Given the description of an element on the screen output the (x, y) to click on. 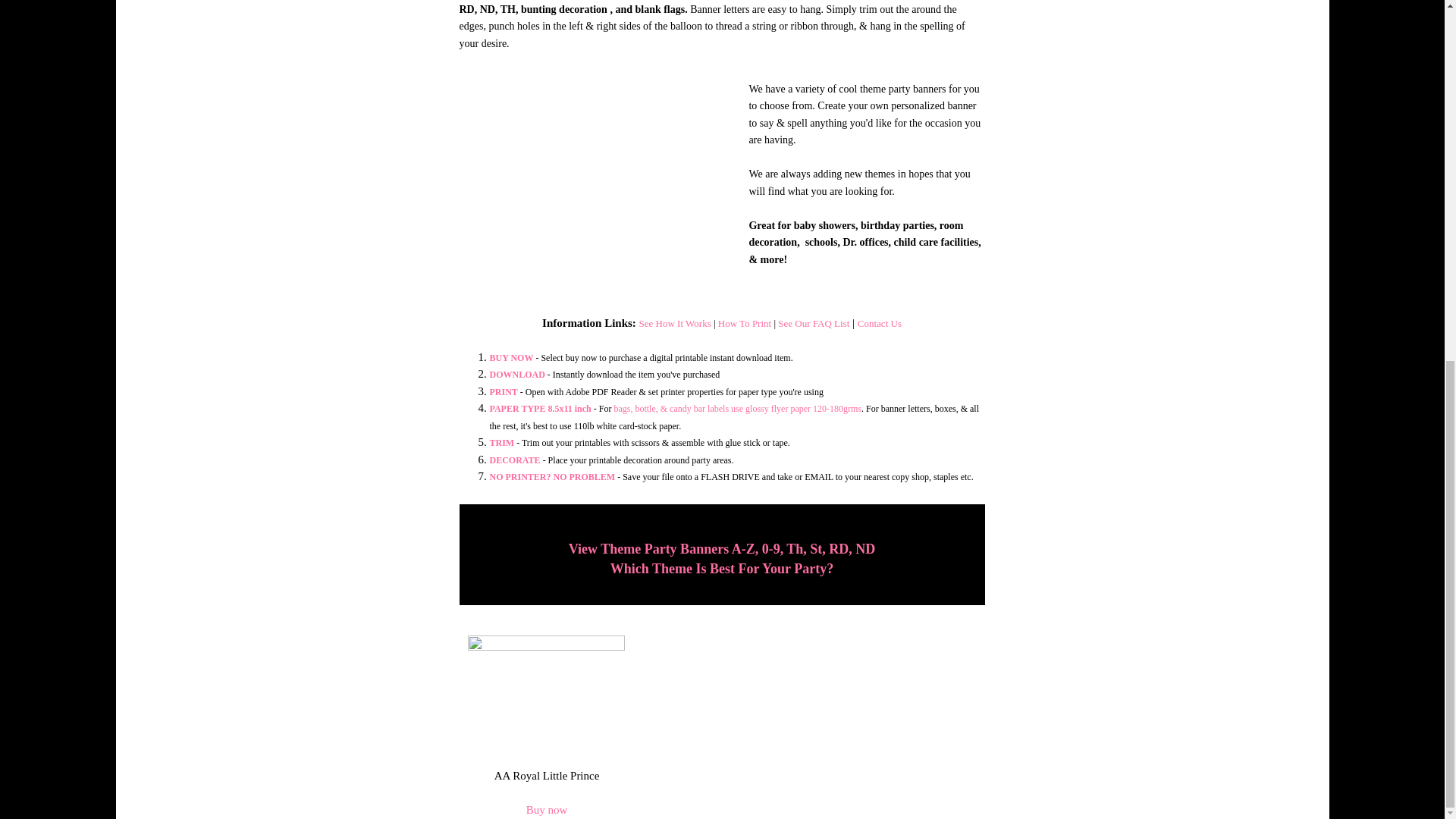
See Our FAQ List (812, 323)
Buy now (546, 809)
How To Print (745, 322)
Contact Us (879, 323)
See How It Works (675, 323)
